Given the description of an element on the screen output the (x, y) to click on. 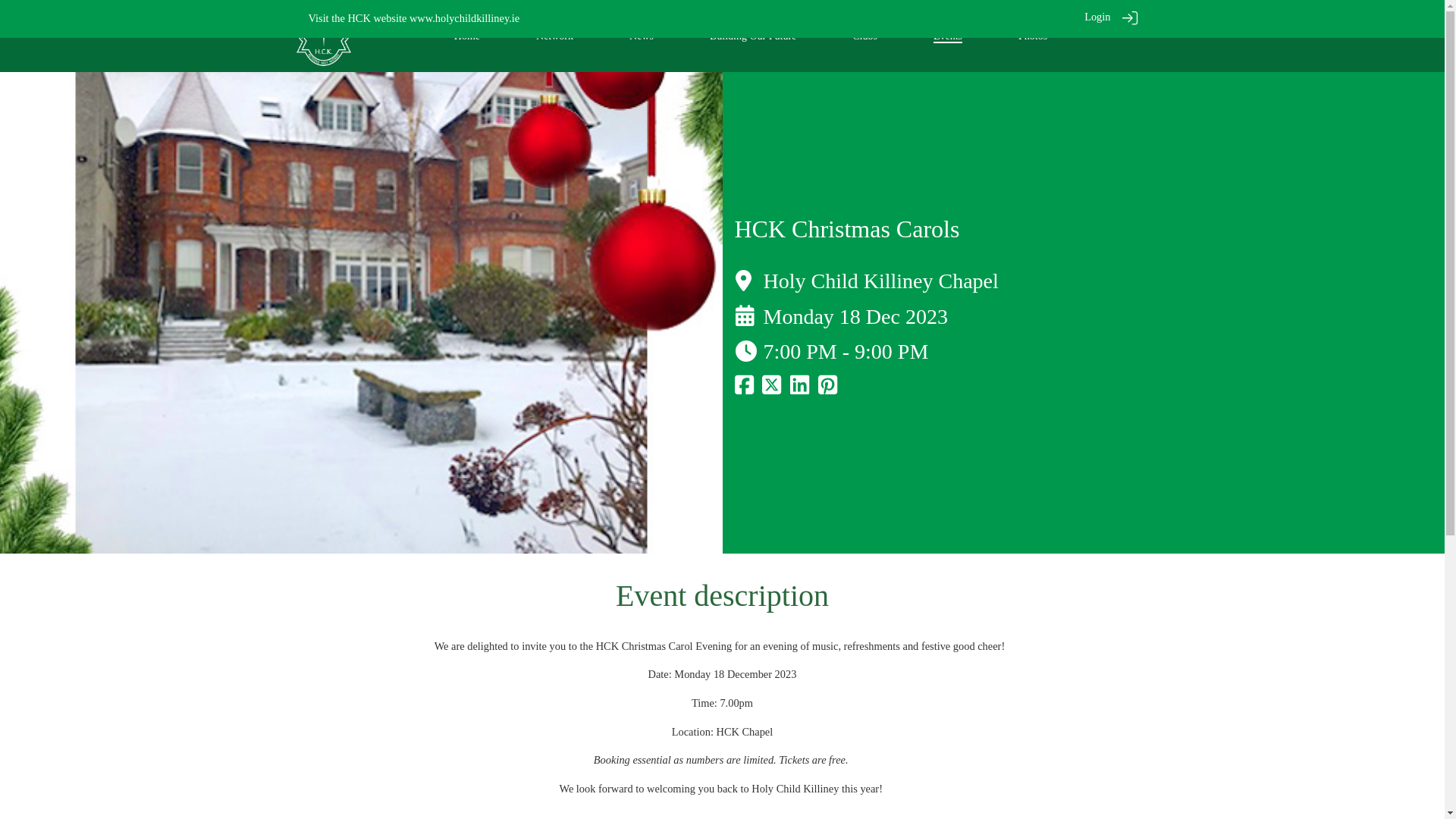
Home (467, 35)
www.holychildkilliney.ie (464, 18)
News (640, 35)
Click here to share this event on LinkedIn (799, 388)
Click here to share this event on Twitter (770, 388)
Click here to share this event on Pinterest (827, 388)
Login (1096, 16)
Network (554, 35)
